Given the description of an element on the screen output the (x, y) to click on. 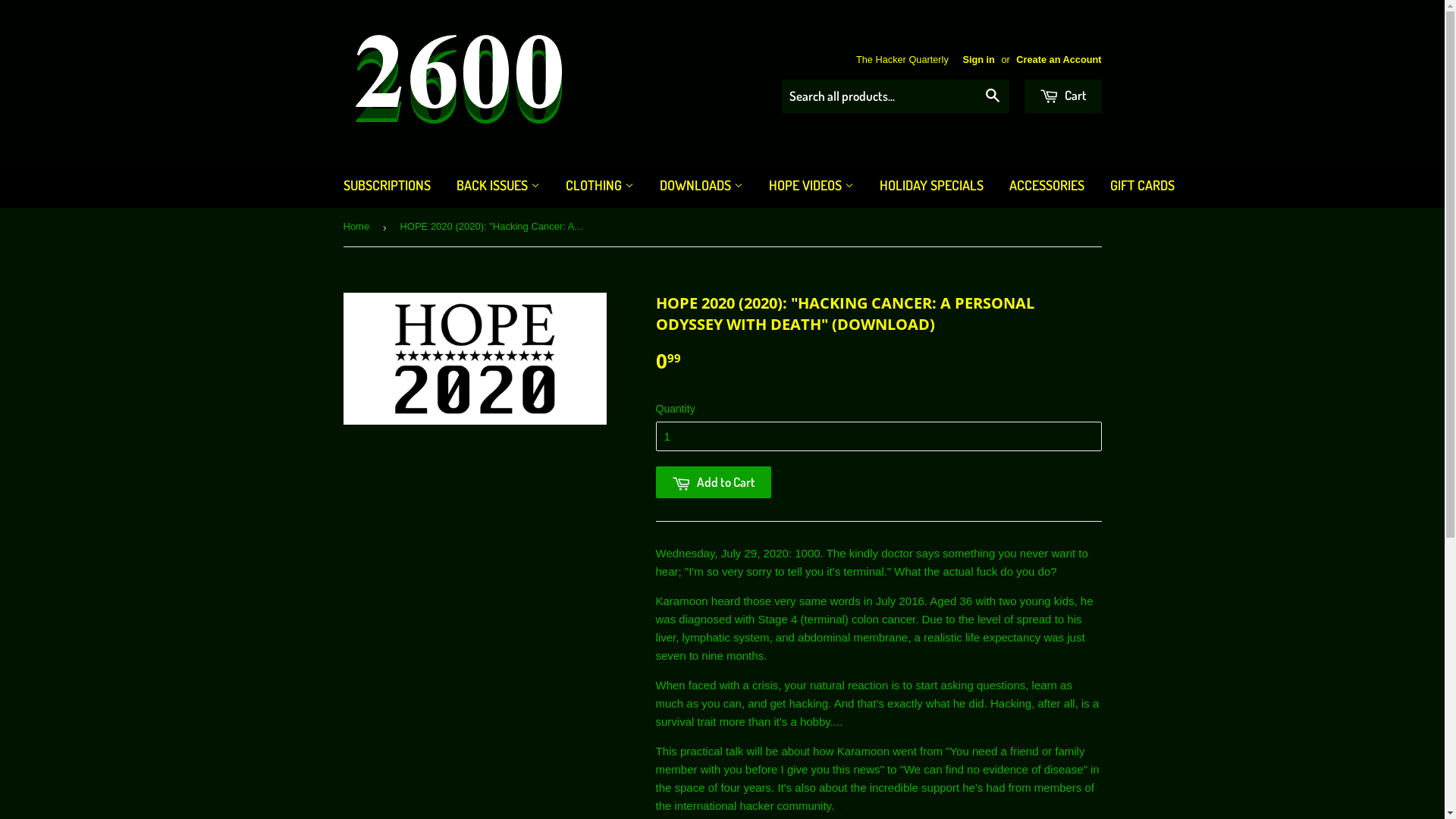
BACK ISSUES Element type: text (497, 185)
Add to Cart Element type: text (712, 482)
DOWNLOADS Element type: text (700, 185)
Create an Account Element type: text (1058, 59)
CLOTHING Element type: text (598, 185)
SUBSCRIPTIONS Element type: text (387, 185)
Home Element type: text (358, 226)
Search Element type: text (992, 96)
HOLIDAY SPECIALS Element type: text (930, 185)
ACCESSORIES Element type: text (1046, 185)
Sign in Element type: text (978, 59)
Cart Element type: text (1062, 95)
HOPE VIDEOS Element type: text (810, 185)
GIFT CARDS Element type: text (1141, 185)
